Given the description of an element on the screen output the (x, y) to click on. 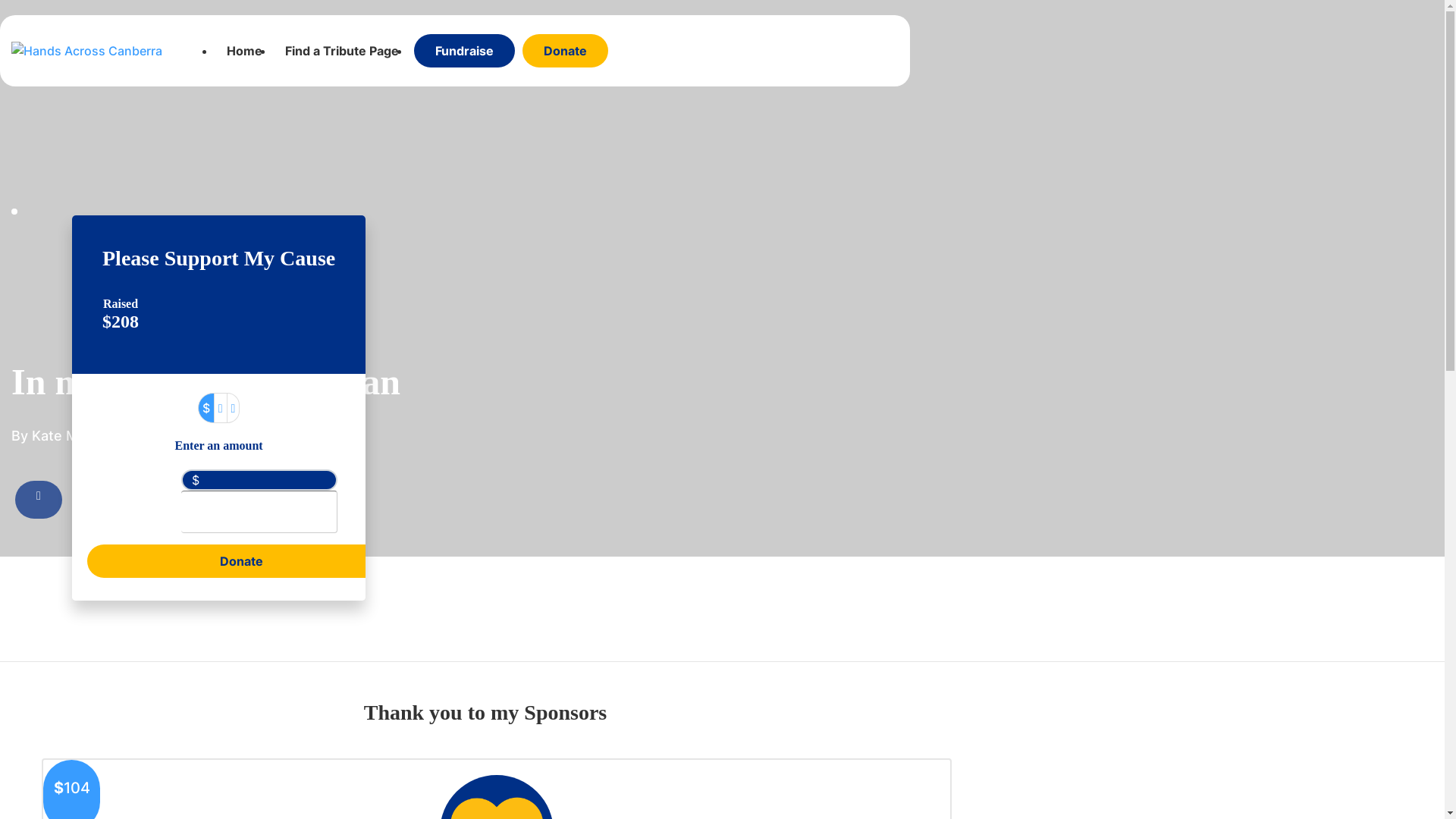
Fundraise Element type: text (464, 50)
Find a Tribute Page Element type: text (341, 50)
Kate Mitchell Element type: text (73, 435)
Donate Element type: text (565, 50)
$ Element type: text (205, 407)
Donate Element type: text (241, 560)
Home Element type: text (244, 50)
